Given the description of an element on the screen output the (x, y) to click on. 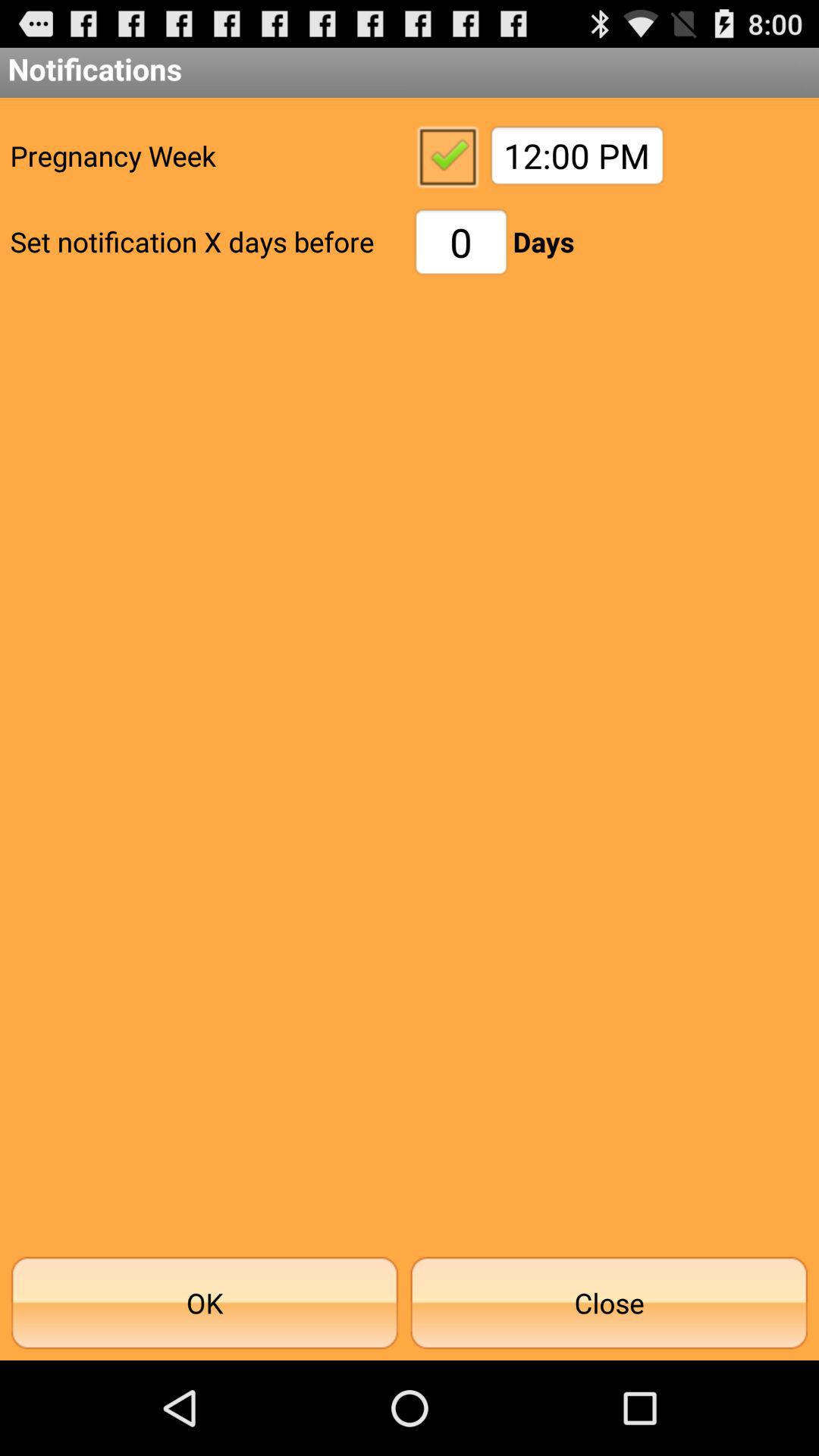
select the icon next to set notification x icon (461, 241)
